Given the description of an element on the screen output the (x, y) to click on. 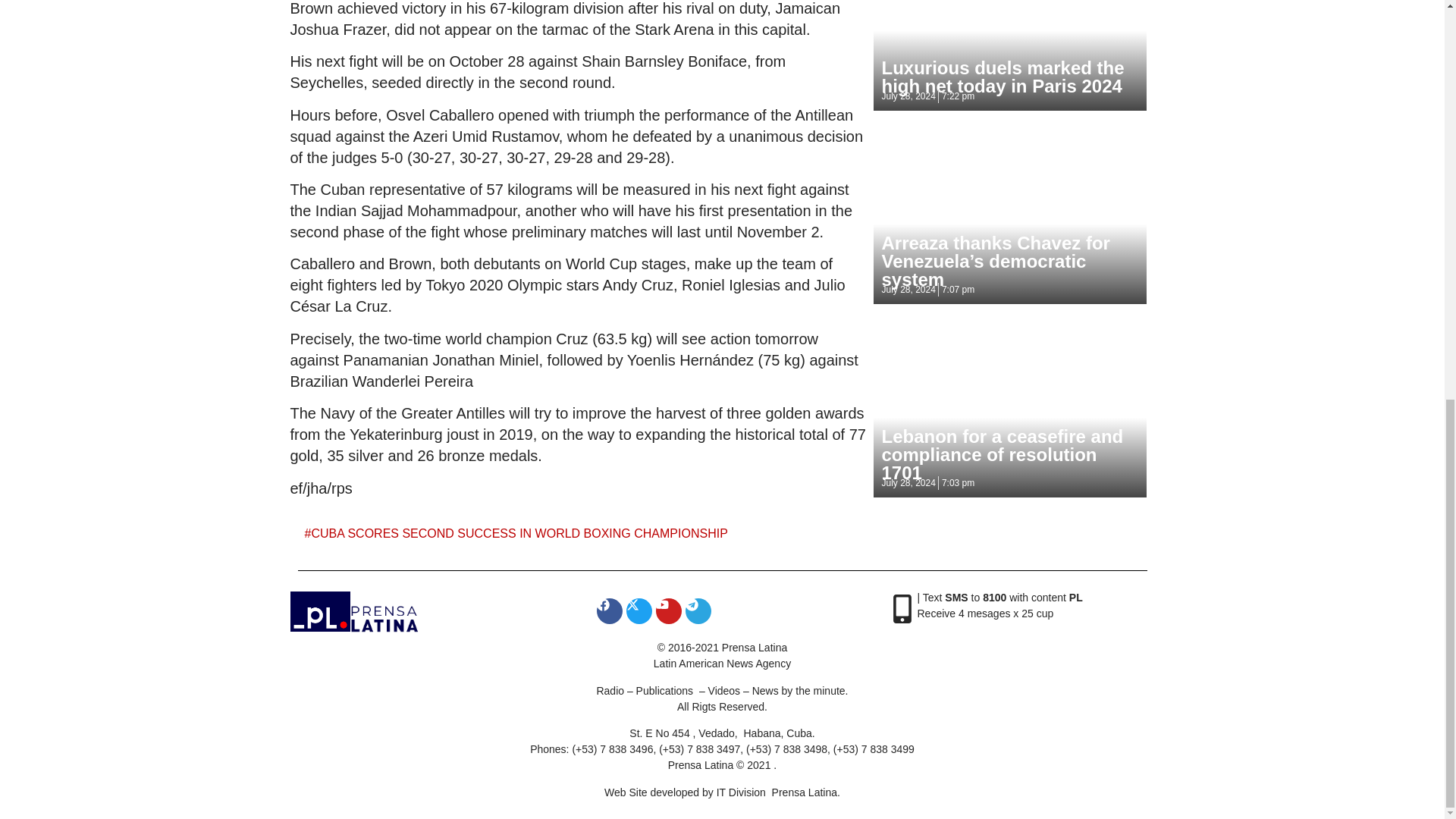
July 28, 2024 (907, 482)
July 28, 2024 (907, 289)
July 28, 2024 (907, 96)
Luxurious duels marked the high net today in Paris 2024 (1002, 76)
Lebanon for a ceasefire and compliance of resolution 1701 (1001, 454)
CUBA SCORES SECOND SUCCESS IN WORLD BOXING CHAMPIONSHIP (518, 533)
